Given the description of an element on the screen output the (x, y) to click on. 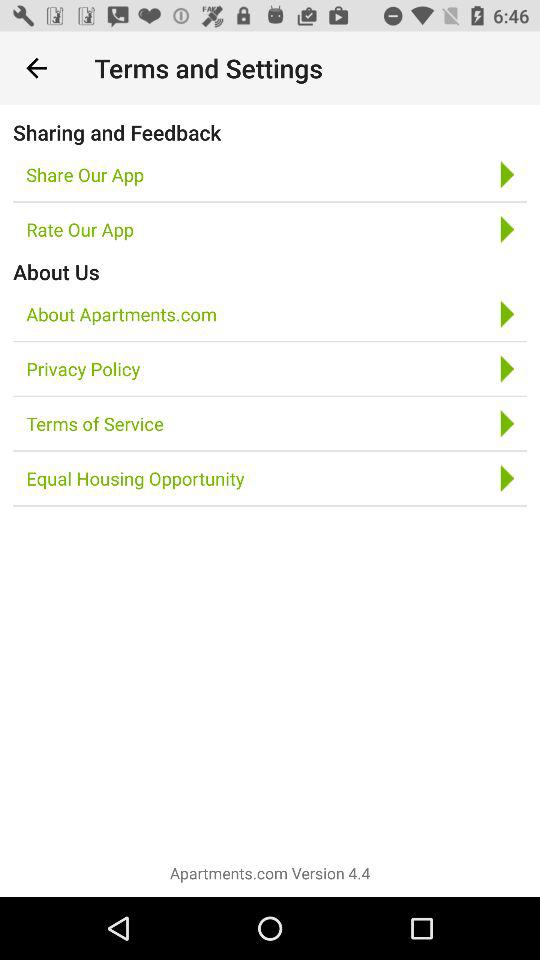
click about us icon (56, 271)
